Given the description of an element on the screen output the (x, y) to click on. 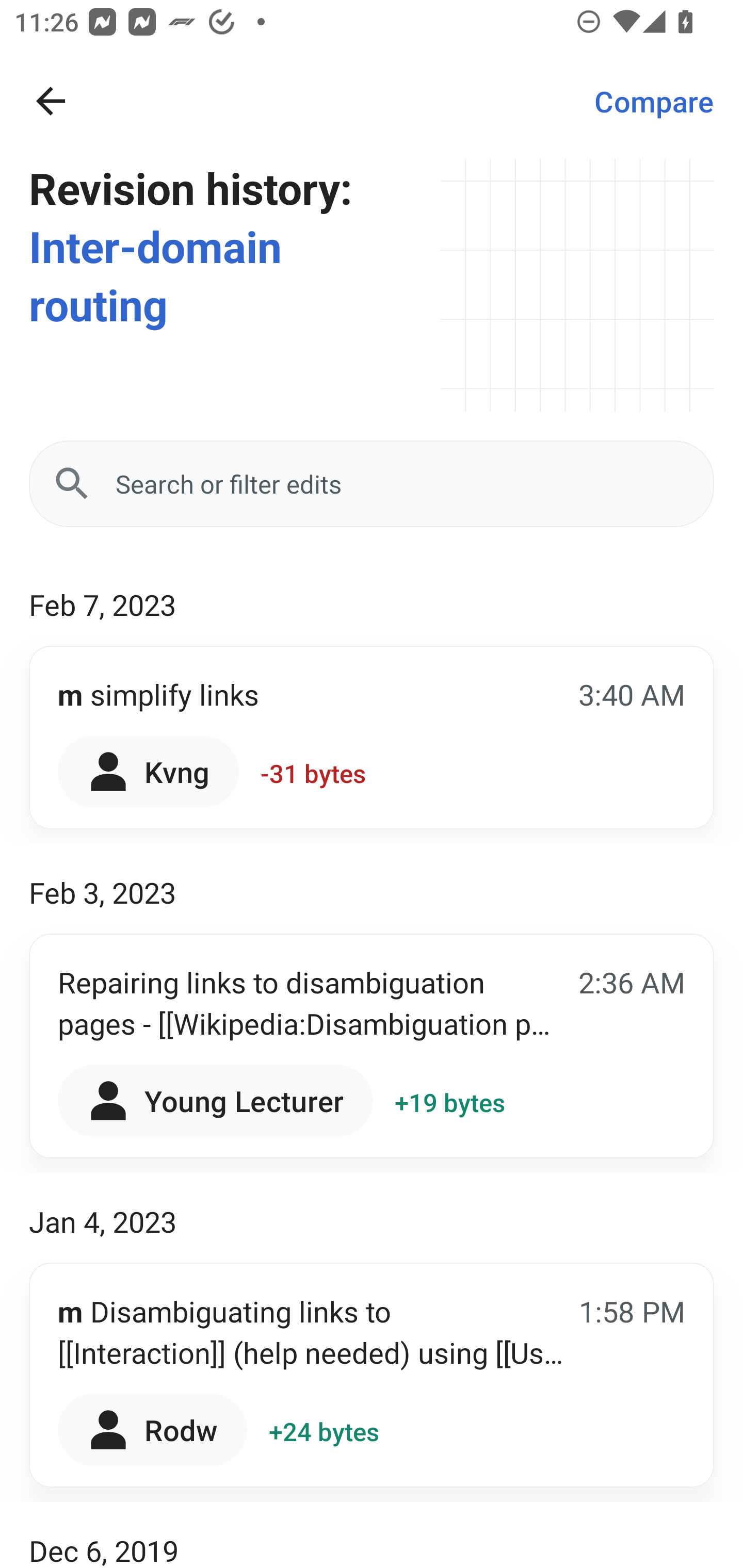
Navigate up (50, 101)
Compare (654, 101)
Search or filter edits (371, 483)
m simplify links 3:40 AM Kvng -31 bytes (371, 737)
Kvng (148, 771)
Young Lecturer (214, 1100)
Rodw (152, 1429)
